Given the description of an element on the screen output the (x, y) to click on. 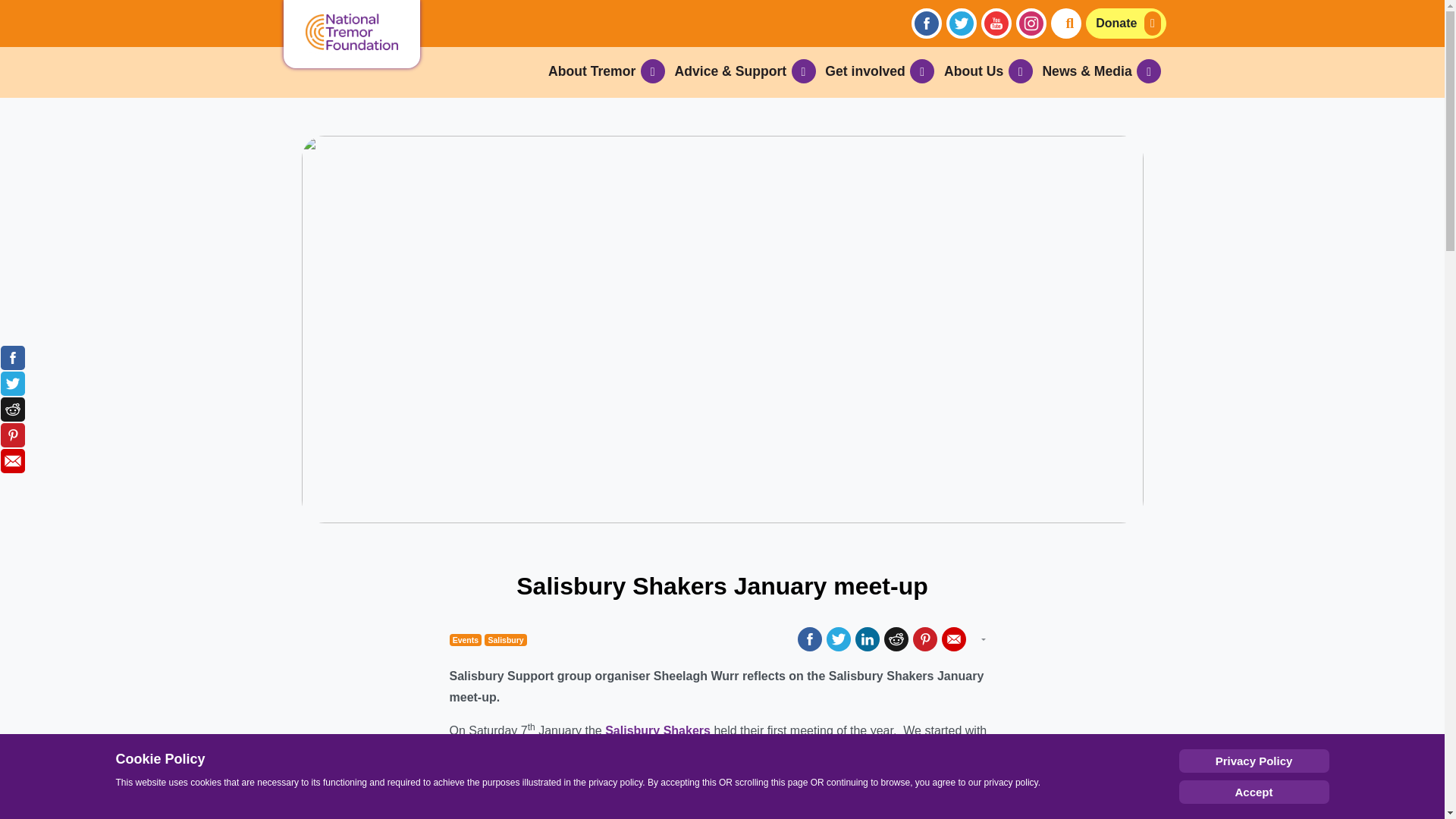
Share on Twitter (12, 383)
Follow us on Instagram (1031, 23)
Recommend this page (12, 460)
Follow us on Youtube (996, 23)
Share on Facebook (809, 639)
Follow us on Twitter (961, 23)
Share on Facebook (12, 357)
Share on Reddit (12, 409)
Home (351, 33)
Share on Twitter (838, 639)
